Given the description of an element on the screen output the (x, y) to click on. 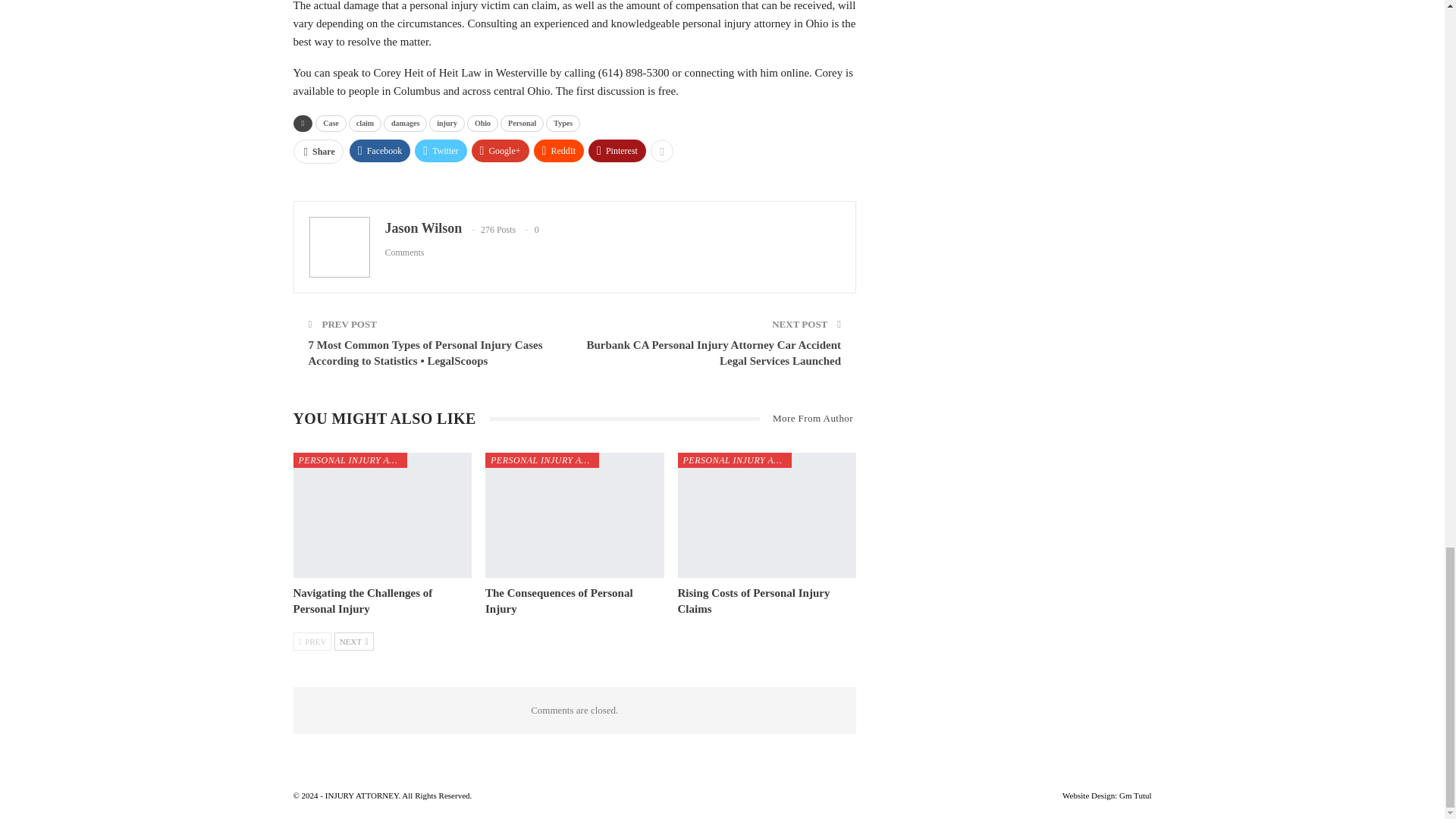
Rising Costs of Personal Injury Claims (753, 601)
Next (354, 641)
ReddIt (559, 150)
Rising Costs of Personal Injury Claims (767, 515)
Pinterest (617, 150)
claim (365, 123)
Types (562, 123)
The Consequences of Personal Injury (573, 515)
Personal (521, 123)
Navigating the Challenges of Personal Injury (362, 601)
